Given the description of an element on the screen output the (x, y) to click on. 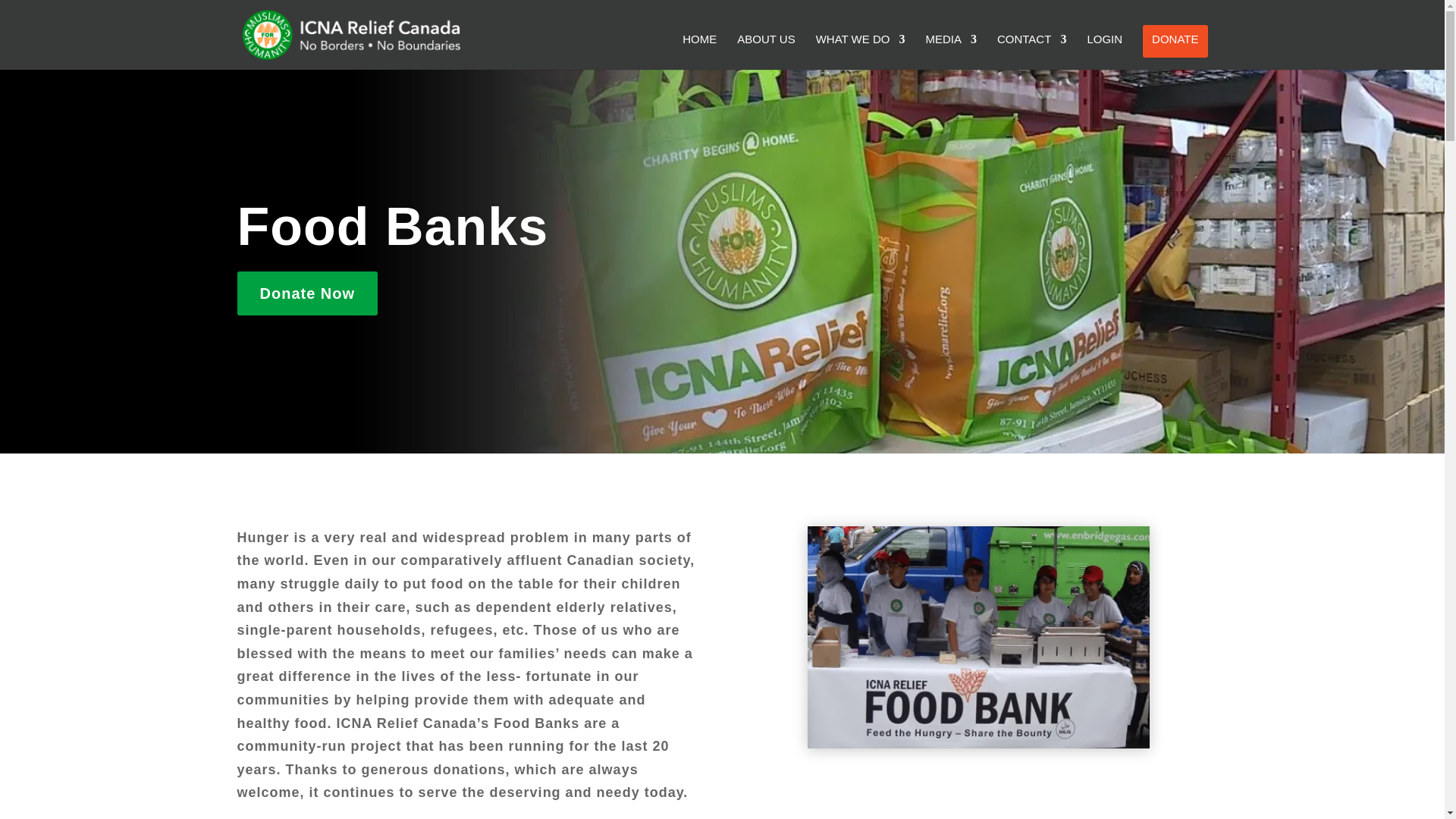
MEDIA (950, 51)
CONTACT (1031, 51)
WHAT WE DO (860, 51)
LOGIN (1104, 51)
ABOUT US (765, 51)
DONATE (1174, 41)
HOME (699, 51)
foodbank (979, 637)
